Given the description of an element on the screen output the (x, y) to click on. 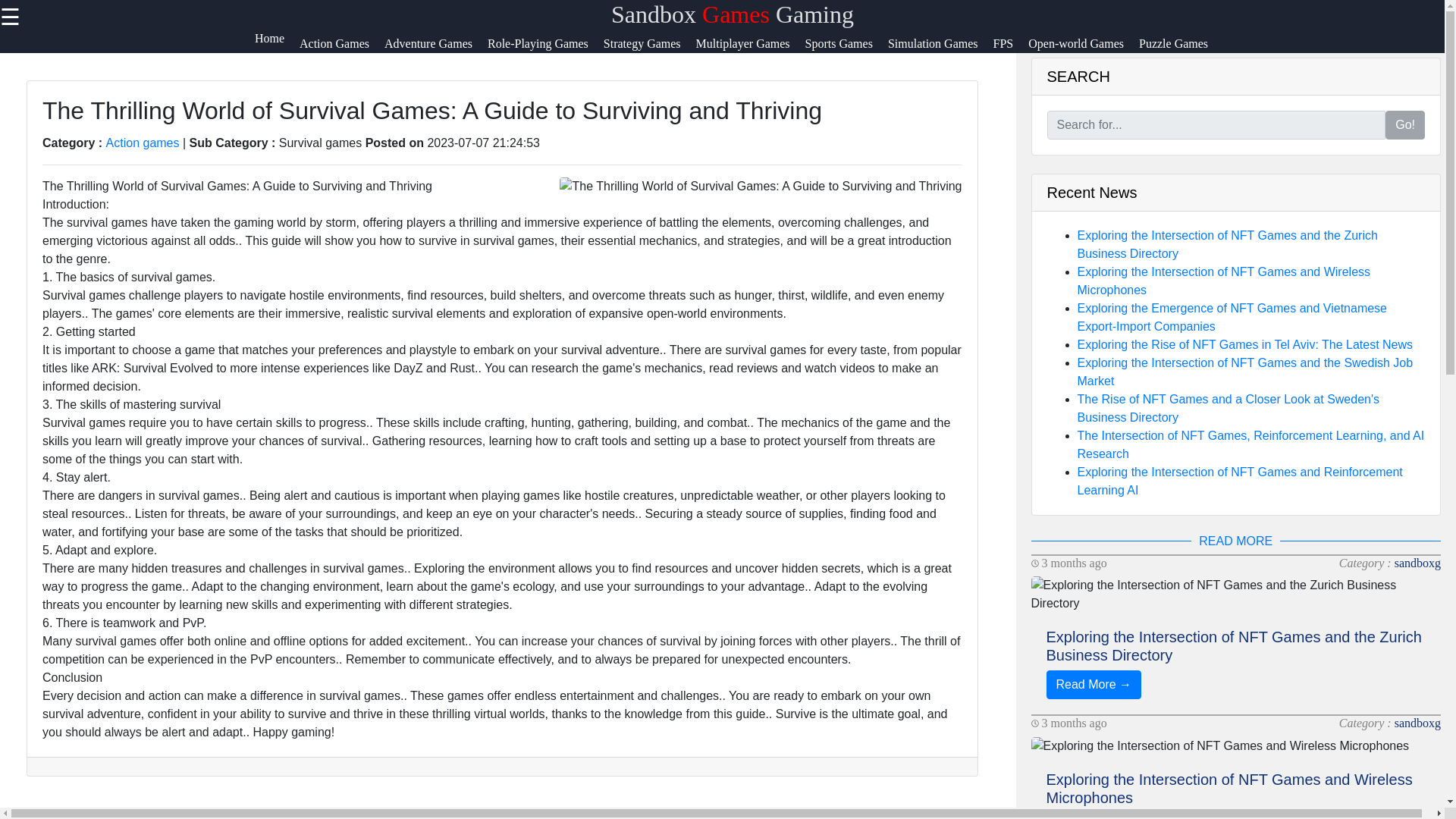
Sandbox Games Gaming (732, 13)
Action games (142, 142)
Sports Games (846, 50)
Role-Playing Games (545, 50)
FPS (1010, 50)
Action Games (341, 50)
Adventure Games (435, 50)
Go! (1405, 124)
Simulation Games (940, 50)
Home (276, 50)
Multiplayer Games (750, 50)
Open-world Games (1082, 50)
Strategy Games (649, 50)
Puzzle Games (1180, 50)
